Given the description of an element on the screen output the (x, y) to click on. 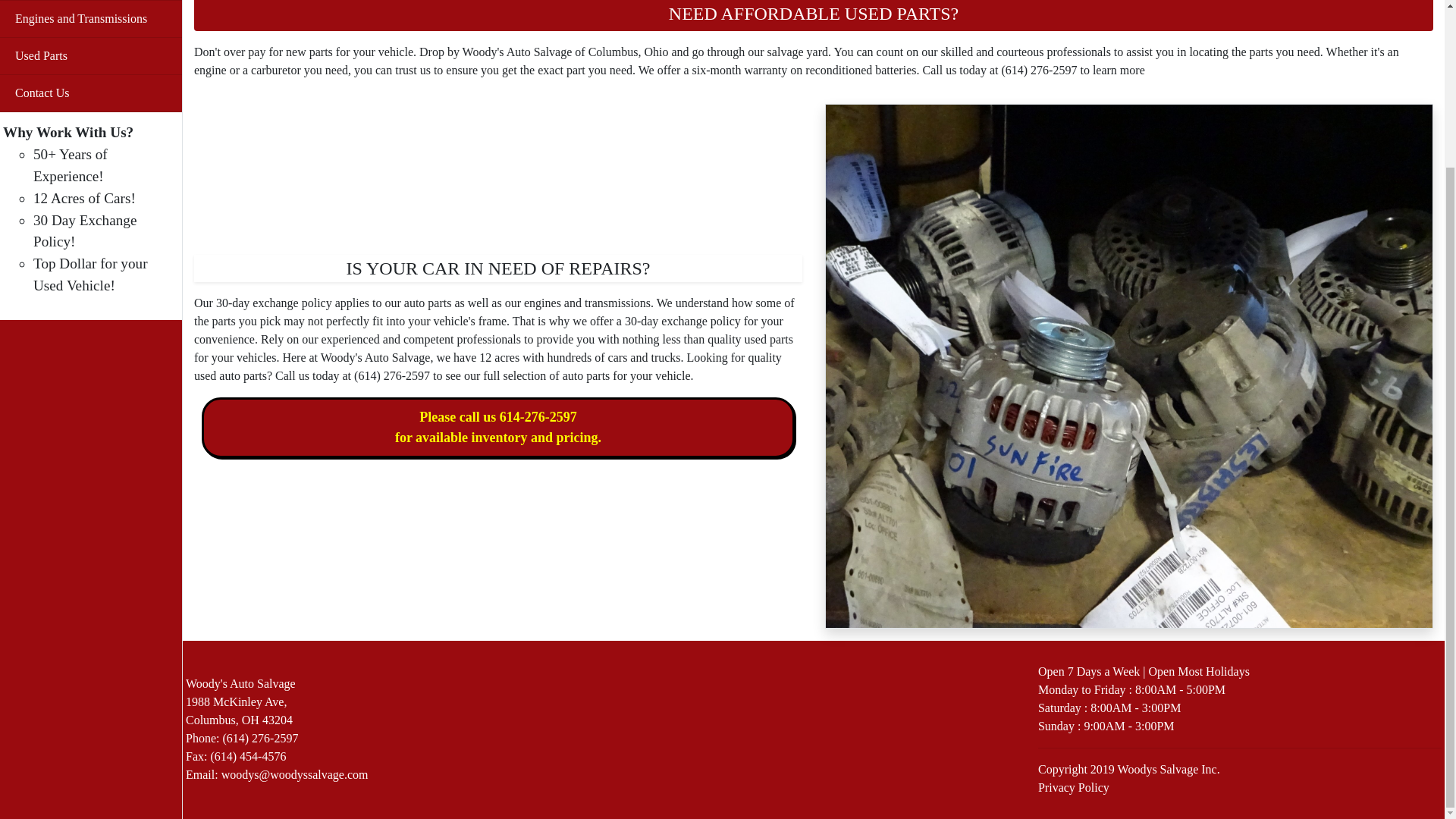
Engines and Transmissions (91, 18)
Privacy Policy (1073, 787)
Sell You Car (240, 701)
Contact Us (91, 55)
